Given the description of an element on the screen output the (x, y) to click on. 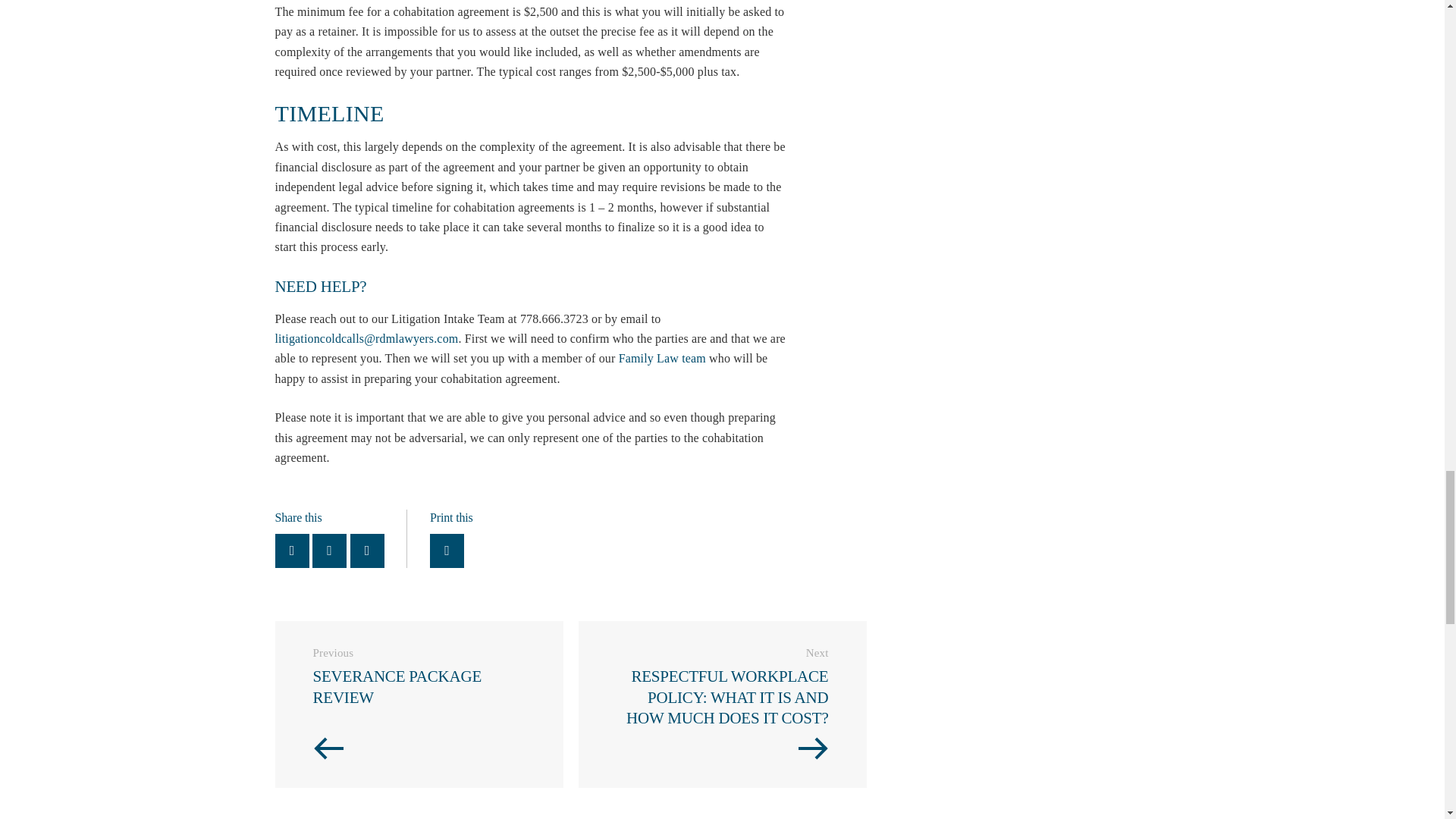
Share on Facebook (367, 550)
Family Law team (662, 358)
Share on Facebook (291, 550)
Share on Twitter (418, 703)
